Given the description of an element on the screen output the (x, y) to click on. 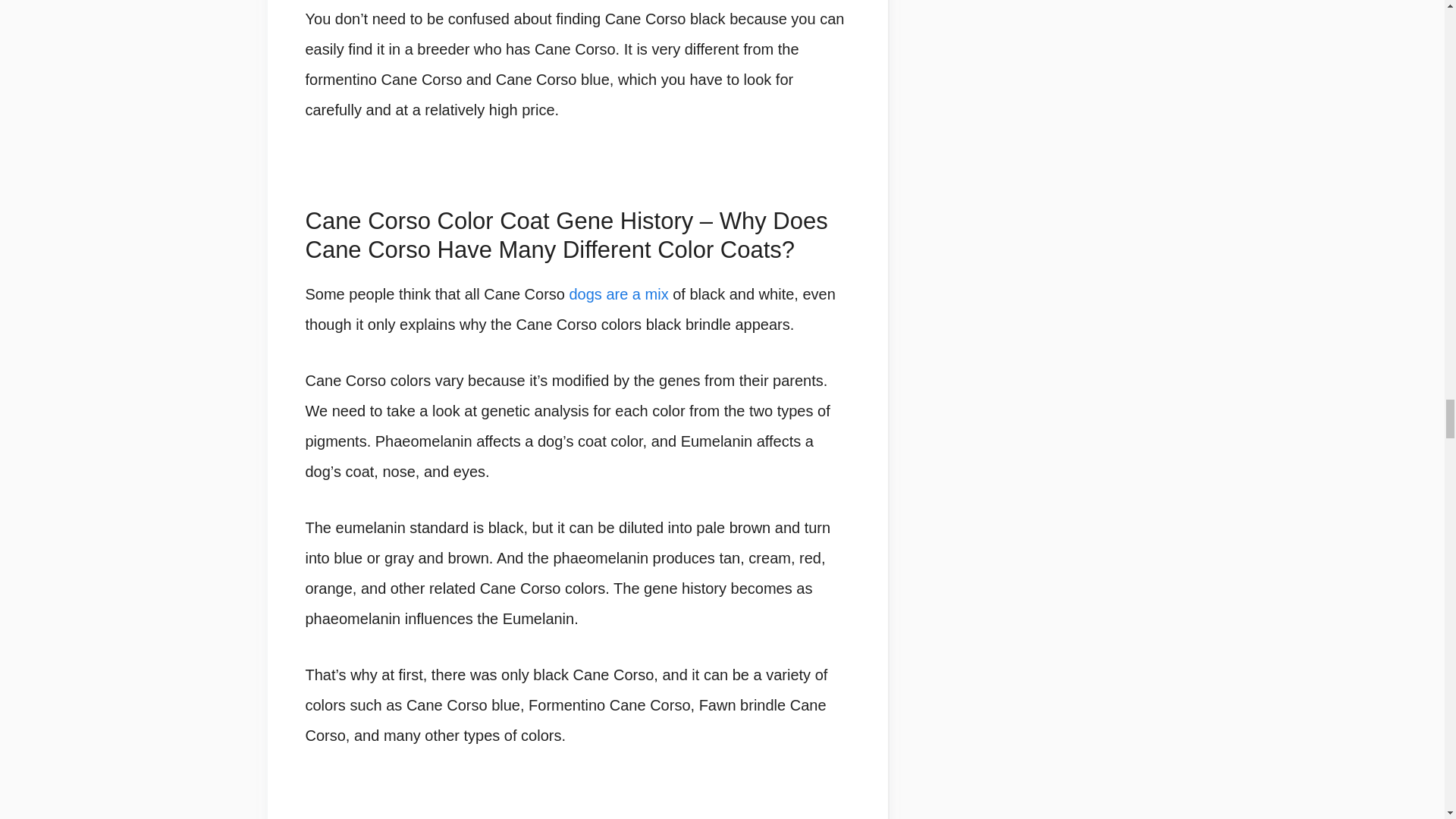
Sheltie Mix : 25 Authentic Shetland Sheepdog Mix Dogs (618, 293)
